Given the description of an element on the screen output the (x, y) to click on. 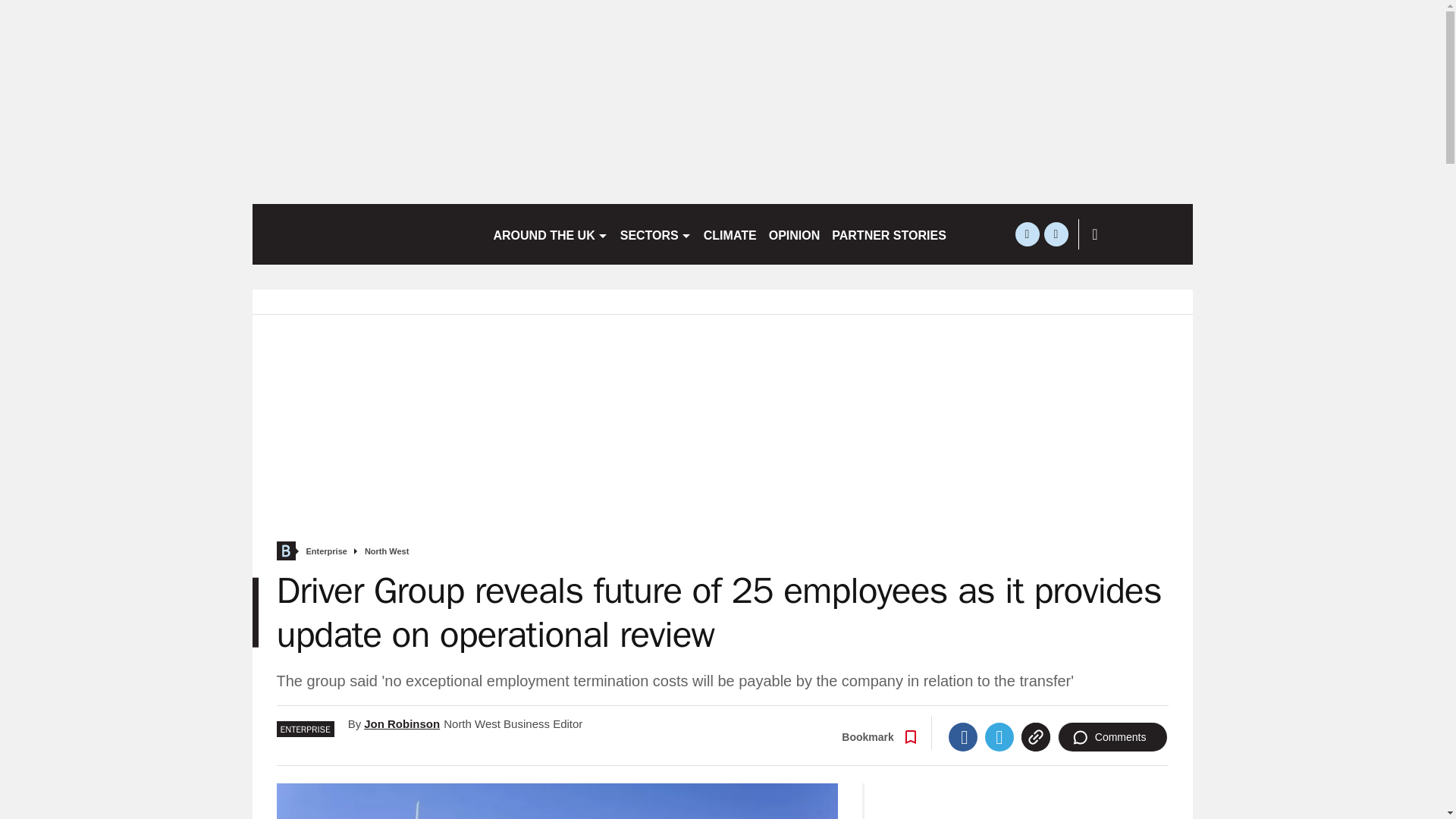
twitter (1026, 233)
birminghampost (365, 233)
Twitter (999, 736)
Facebook (962, 736)
OPINION (794, 233)
CLIMATE (729, 233)
linkedin (1055, 233)
Comments (1112, 736)
PARTNER STORIES (888, 233)
AROUND THE UK (549, 233)
SECTORS (655, 233)
